Given the description of an element on the screen output the (x, y) to click on. 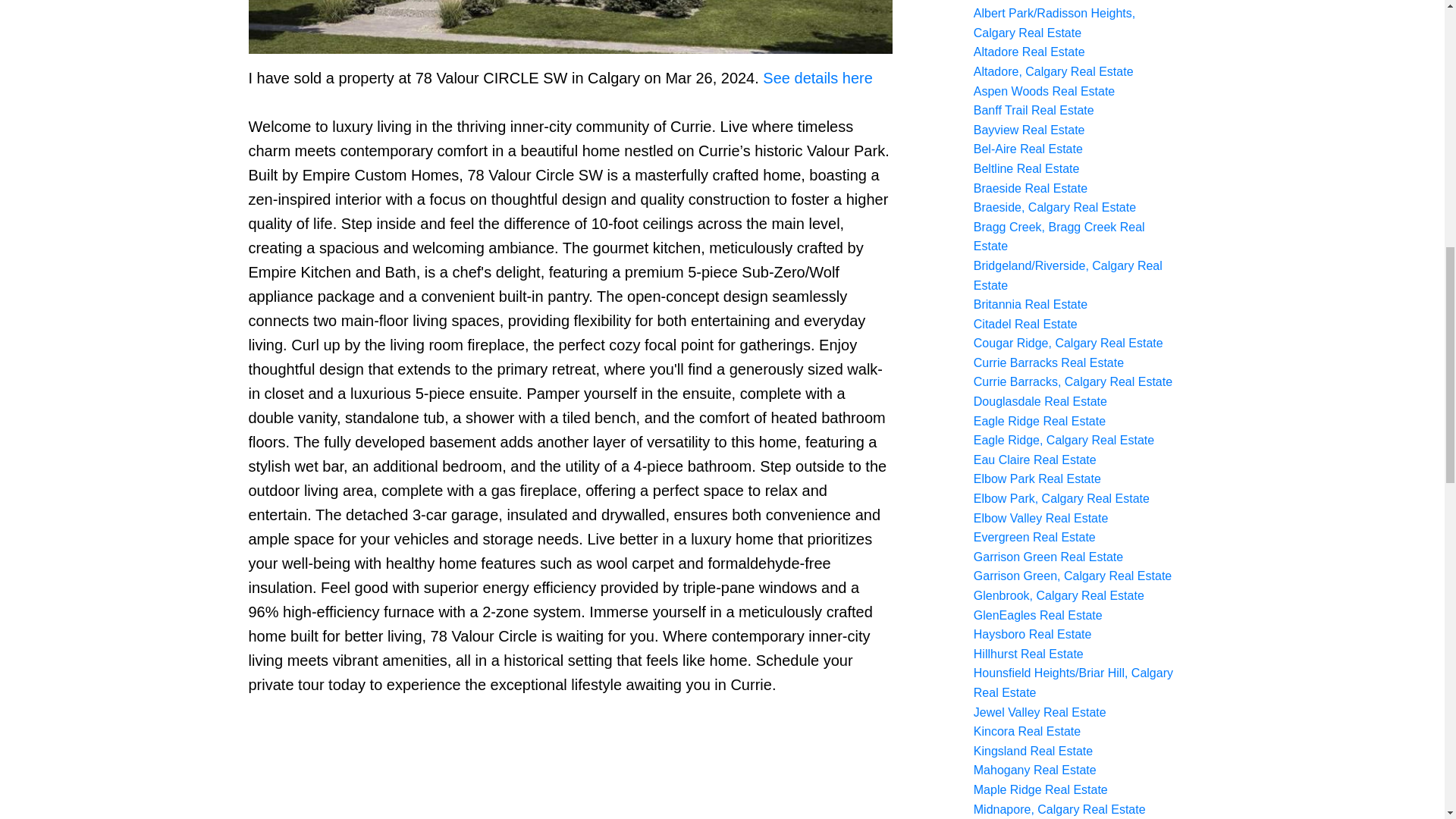
See details here (817, 77)
